Given the description of an element on the screen output the (x, y) to click on. 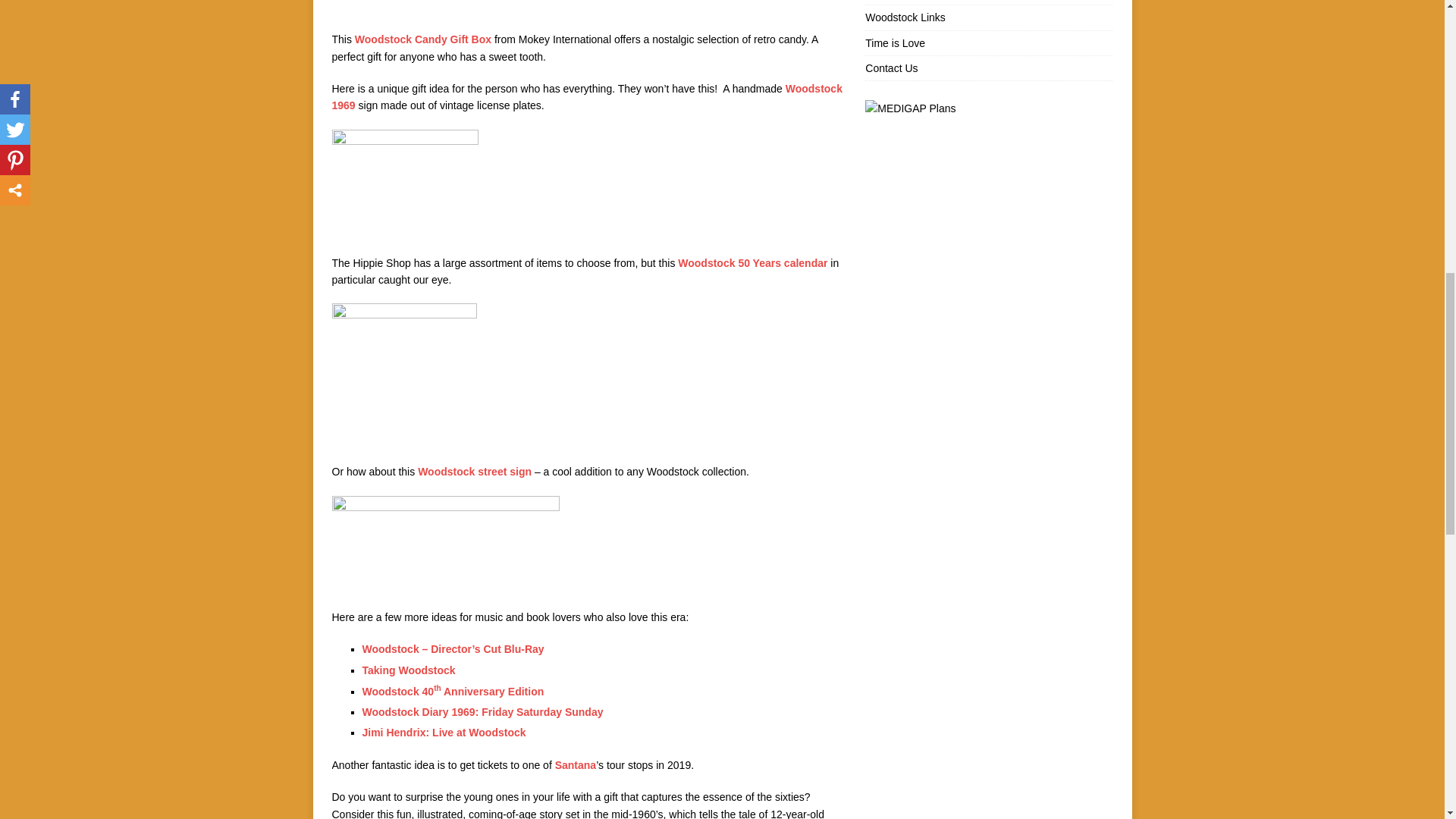
Taking Woodstock (408, 670)
Woodstock Candy Gift Box (423, 39)
Santana (574, 765)
Woodstock 1969 (587, 96)
Woodstock street sign (474, 471)
Jimi Hendrix: Live at Woodstock (443, 732)
Woodstock Diary 1969: Friday Saturday Sunday (483, 711)
Woodstock 40th Anniversary Edition (453, 691)
Woodstock 50 Years calendar (752, 263)
